Given the description of an element on the screen output the (x, y) to click on. 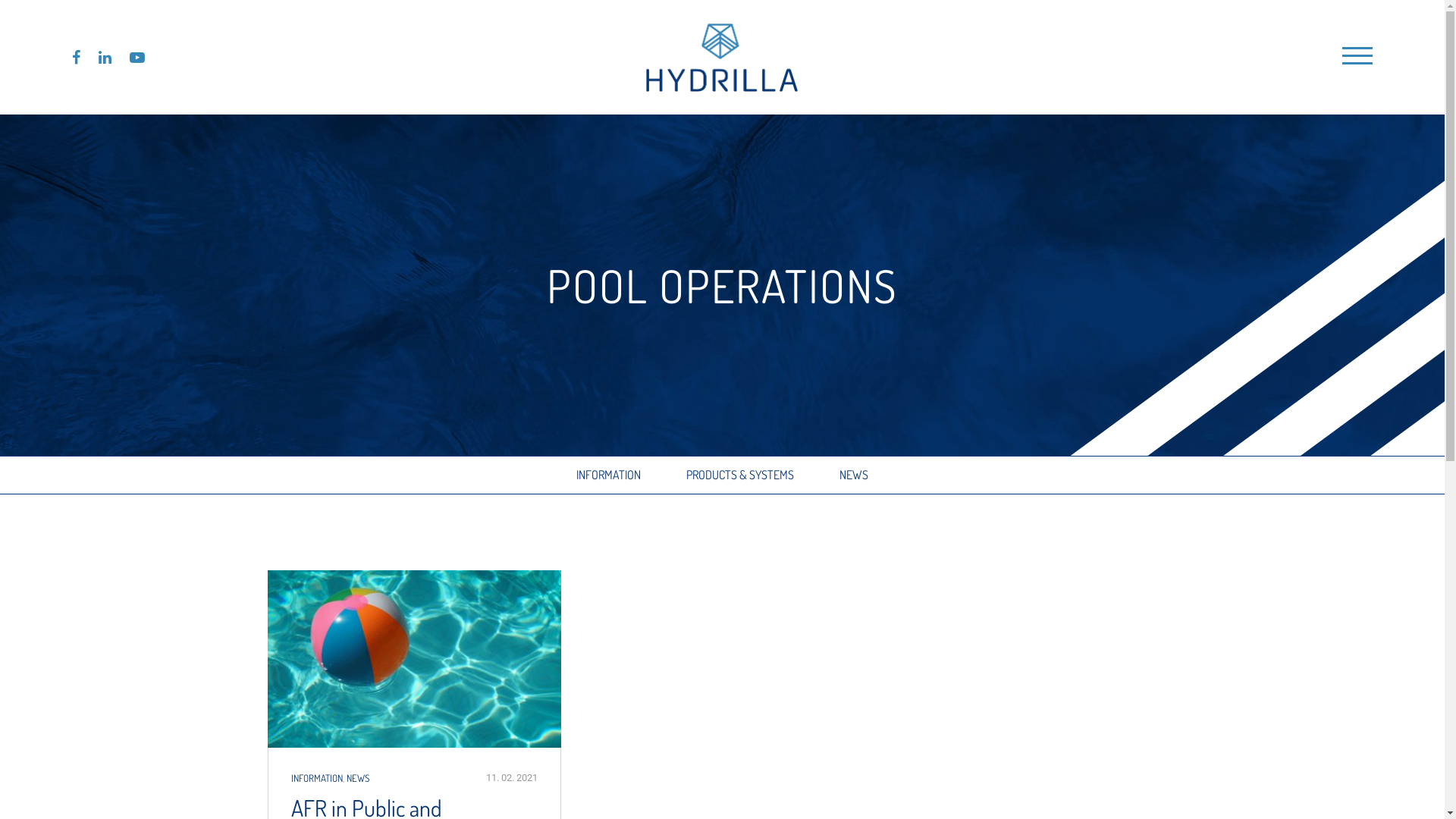
INFORMATION Element type: text (608, 474)
NEWS Element type: text (853, 474)
PRODUCTS & SYSTEMS Element type: text (739, 474)
INFORMATION Element type: text (316, 777)
NEWS Element type: text (356, 777)
